Given the description of an element on the screen output the (x, y) to click on. 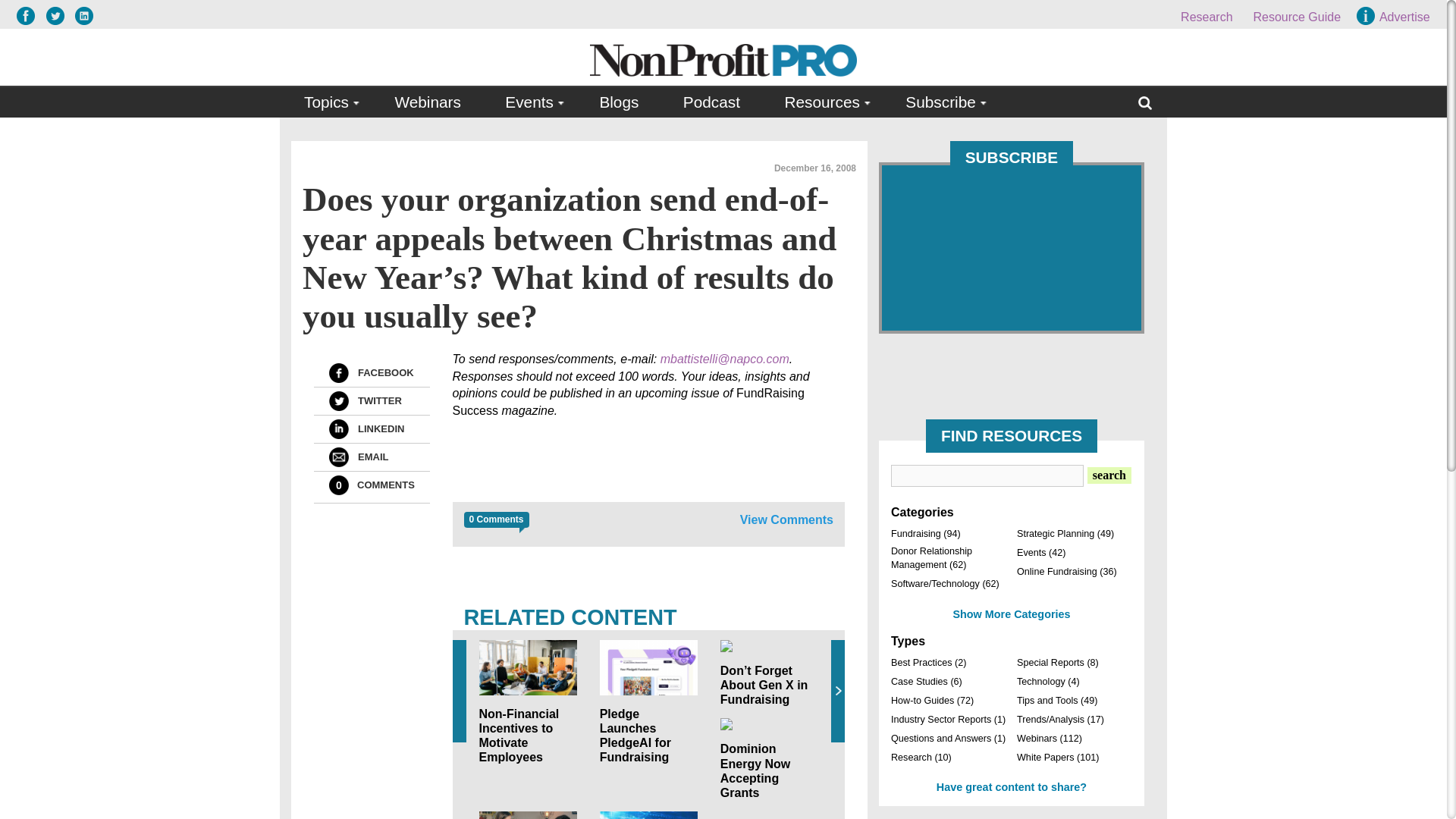
Twitter (339, 401)
Email Link (339, 456)
Topics (327, 101)
search (1109, 475)
Webinars (426, 101)
Events (530, 101)
Advertise (1395, 16)
Resource Guide (1296, 16)
Facebook (339, 373)
LinkedIn (339, 428)
